Given the description of an element on the screen output the (x, y) to click on. 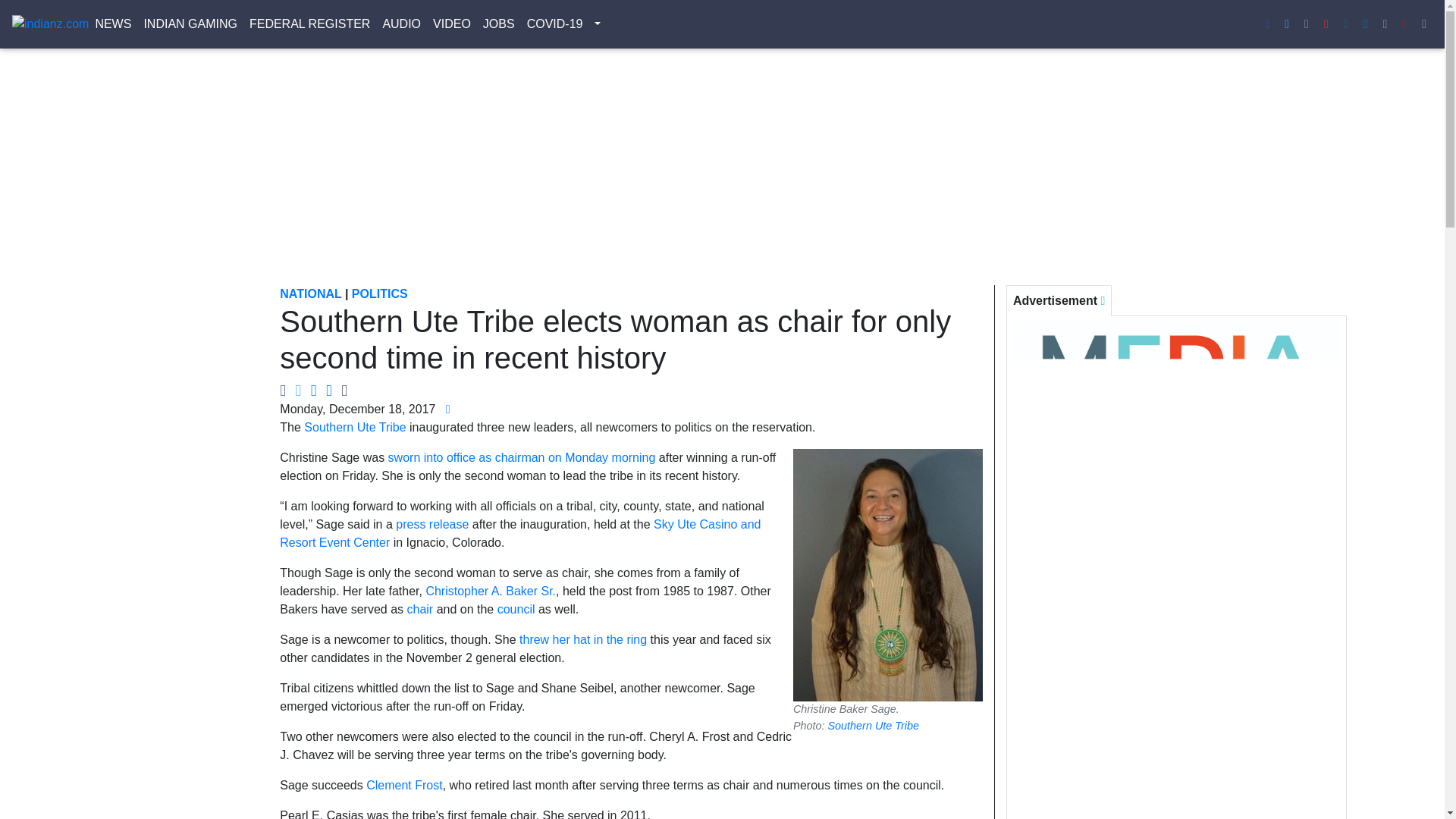
AUDIO (400, 24)
NEWS (112, 24)
Jobs (499, 24)
COVID-19 in Indian Country (555, 24)
Indian Gaming (189, 24)
News (112, 24)
Federal Register (309, 24)
VIDEO (451, 24)
Videos (451, 24)
NATIONAL (309, 293)
